Given the description of an element on the screen output the (x, y) to click on. 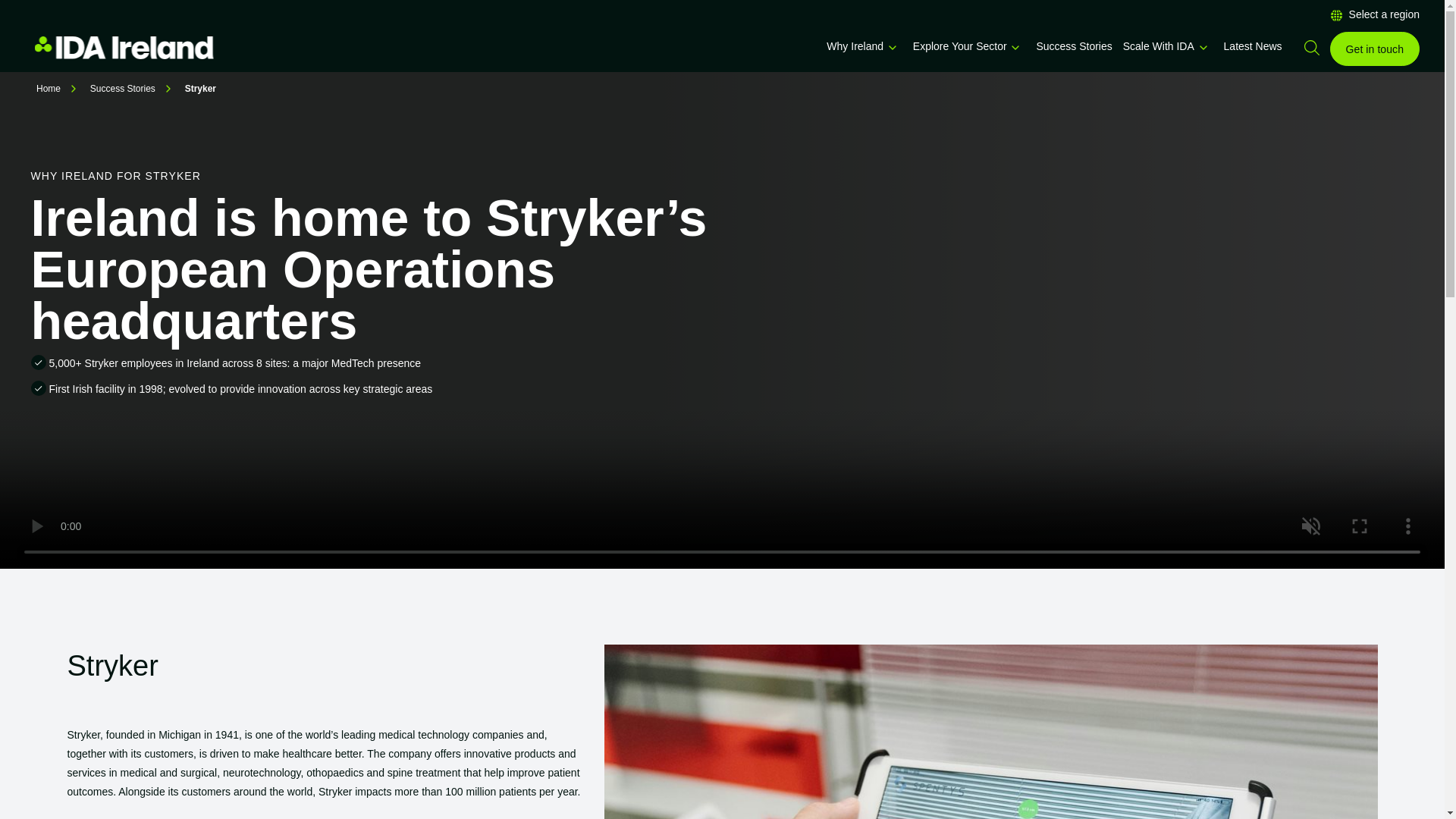
Get in touch (1374, 48)
Success Stories (1073, 46)
Latest News (1253, 46)
Explore Your Sector (959, 46)
A short title of the SVG (1202, 47)
A short title of the SVG (1015, 47)
Why Ireland (855, 46)
A short title of the SVG (892, 47)
Scale With IDA (1157, 46)
